Given the description of an element on the screen output the (x, y) to click on. 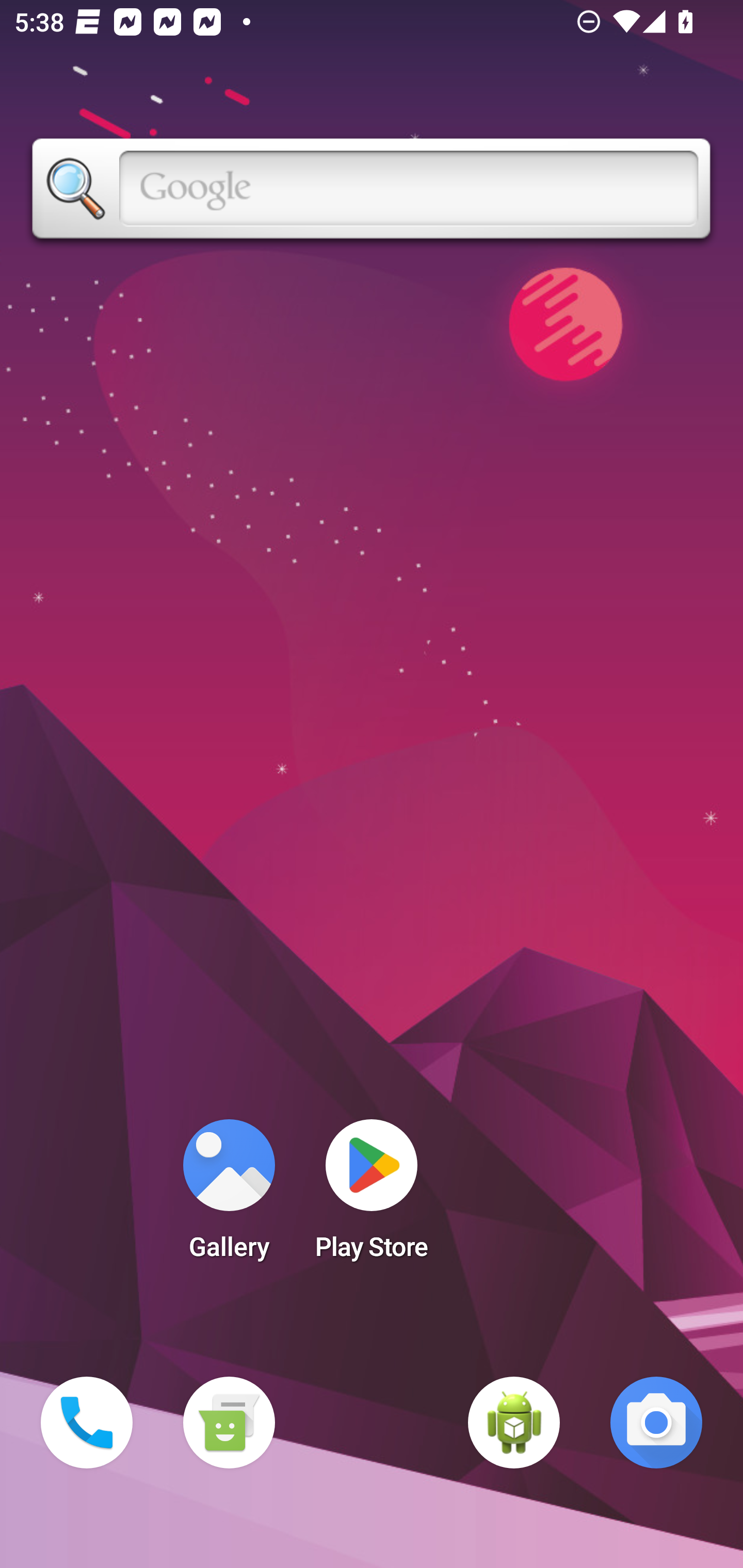
Gallery (228, 1195)
Play Store (371, 1195)
Phone (86, 1422)
Messaging (228, 1422)
WebView Browser Tester (513, 1422)
Camera (656, 1422)
